Given the description of an element on the screen output the (x, y) to click on. 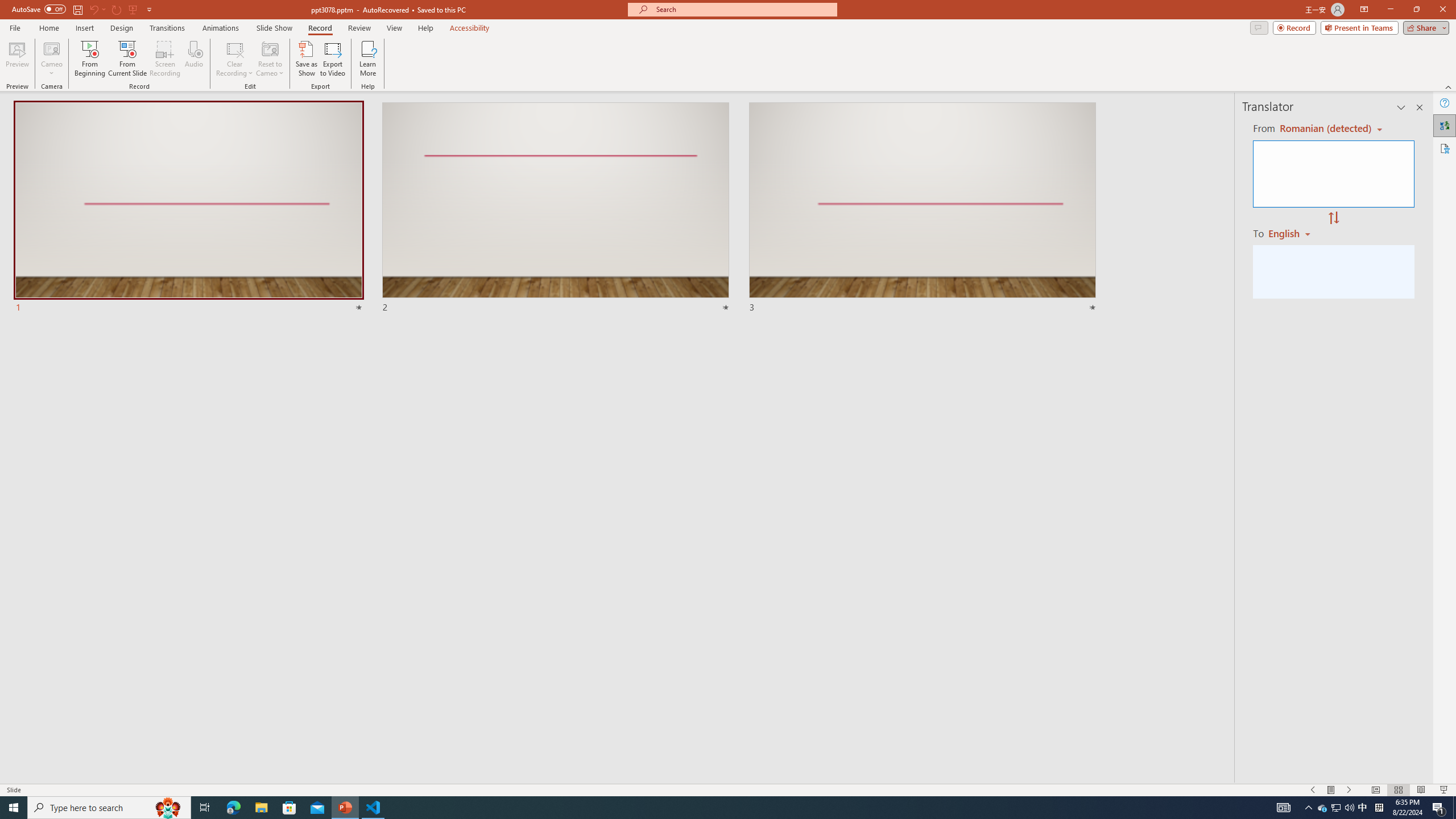
Romanian (1293, 232)
